Given the description of an element on the screen output the (x, y) to click on. 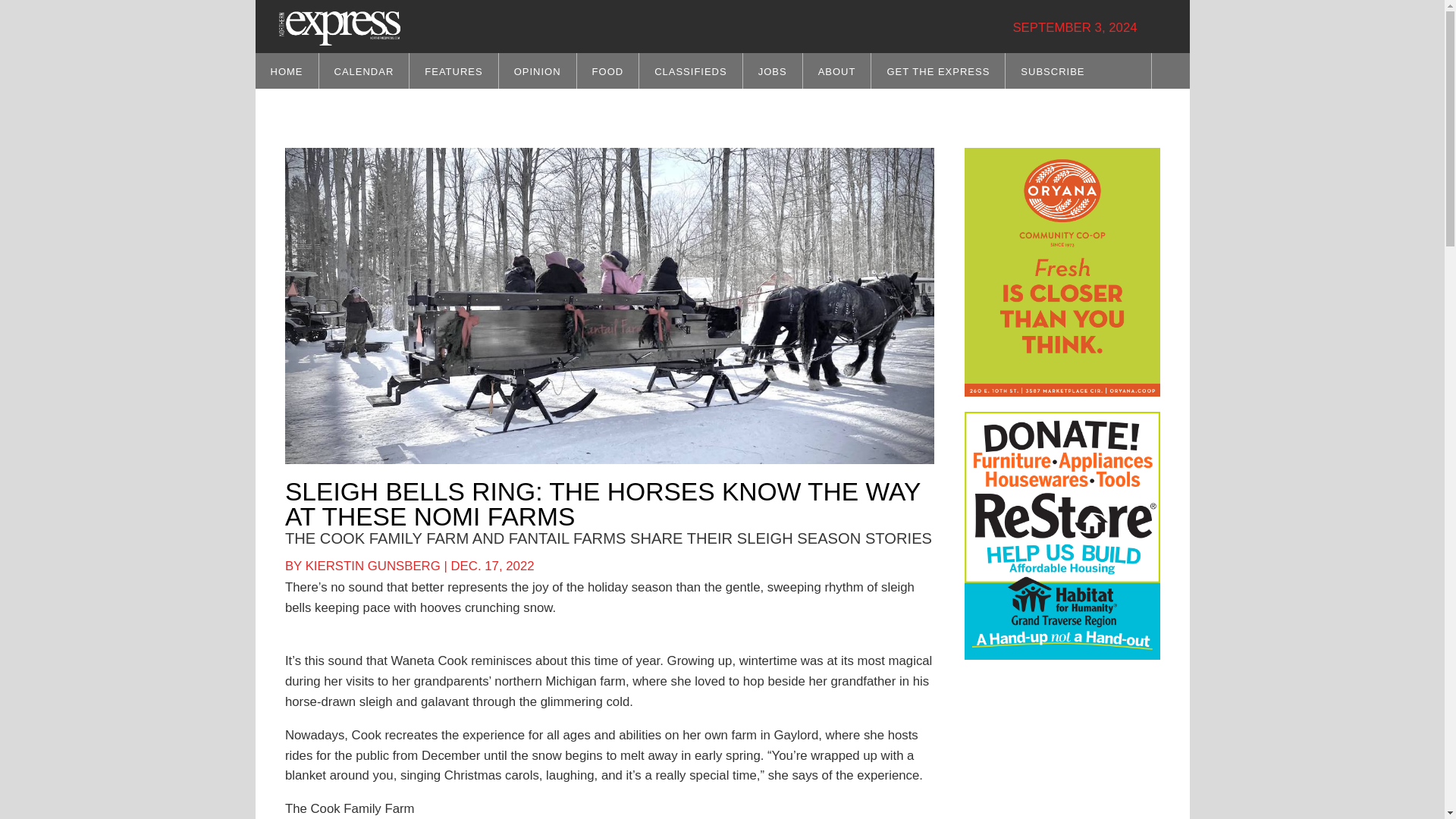
OPINION (537, 70)
ABOUT (836, 70)
FOOD (607, 70)
GET THE EXPRESS (937, 70)
JOBS (772, 70)
HOME (285, 70)
3rd party ad content (1077, 746)
The Northern Express (339, 27)
GO (1149, 97)
